Given the description of an element on the screen output the (x, y) to click on. 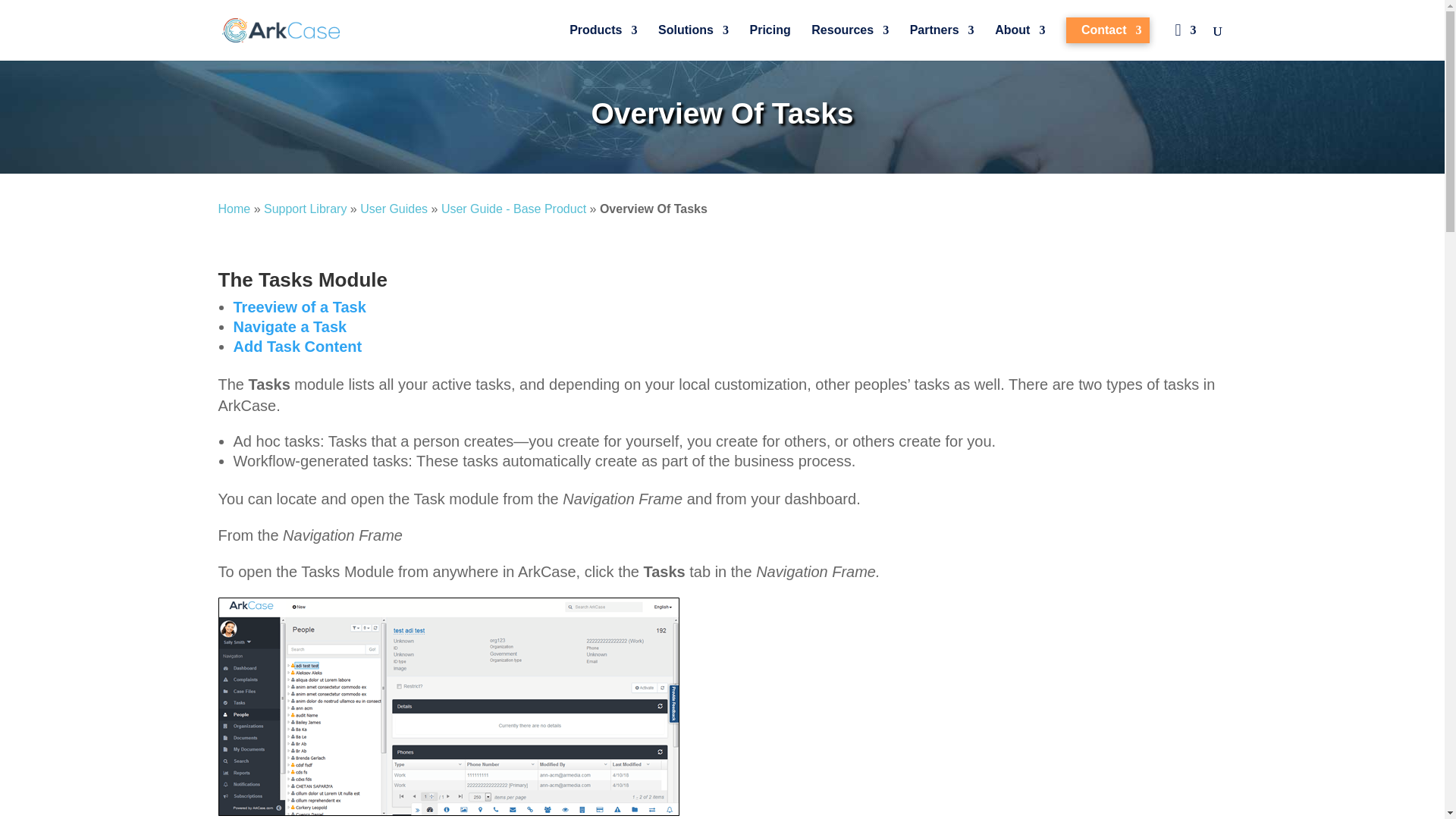
Pricing (769, 42)
Resources (849, 42)
Partners (942, 42)
Solutions (693, 42)
Contact (1107, 30)
About (1019, 42)
Products (603, 42)
